Given the description of an element on the screen output the (x, y) to click on. 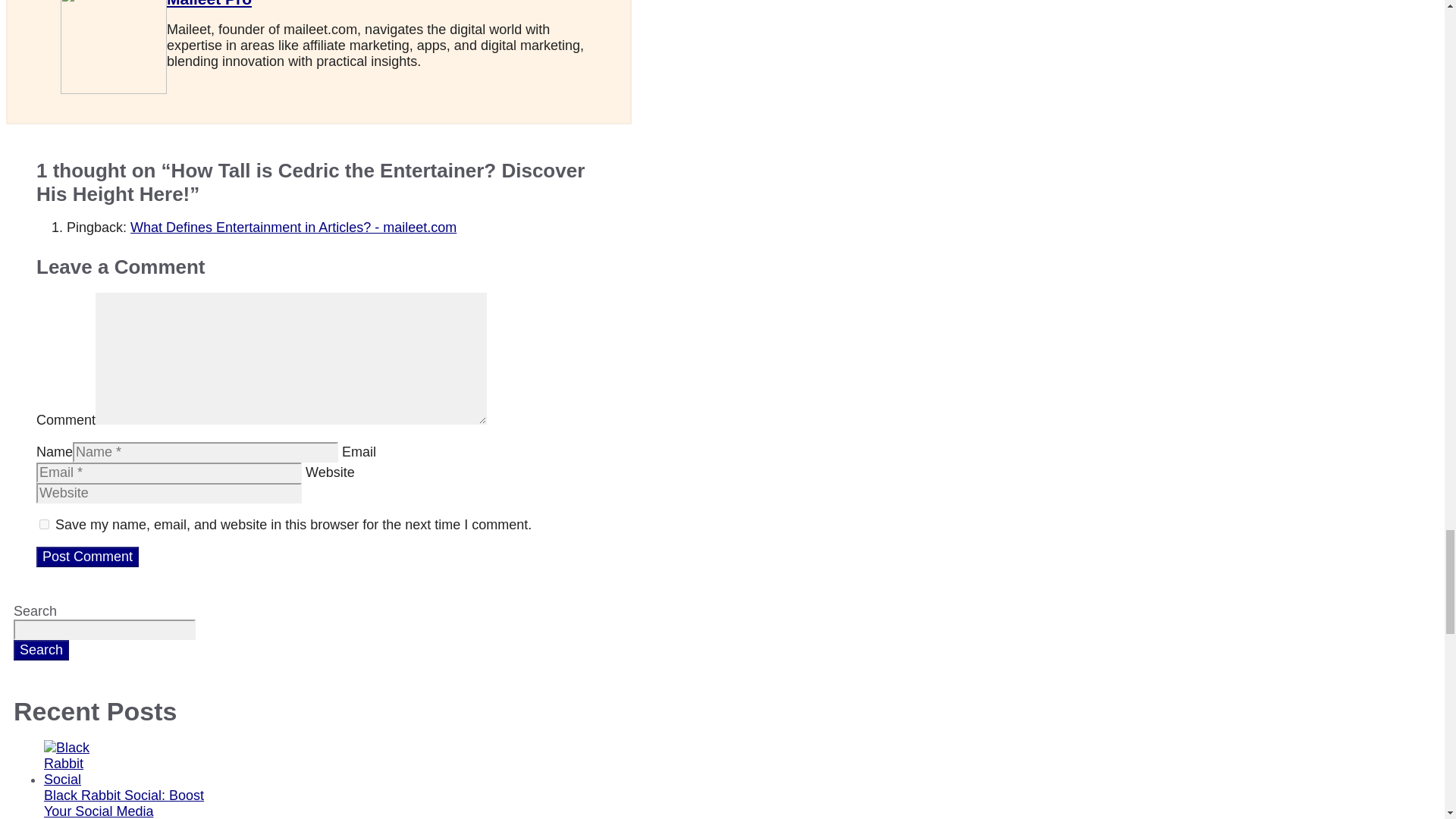
Post Comment (87, 557)
What Defines Entertainment in Articles? - maileet.com (294, 227)
Post Comment (87, 557)
Black Rabbit Social: Boost Your Social Media Presence Today (123, 803)
Maileet Pro (209, 3)
yes (44, 524)
Search (40, 649)
